Given the description of an element on the screen output the (x, y) to click on. 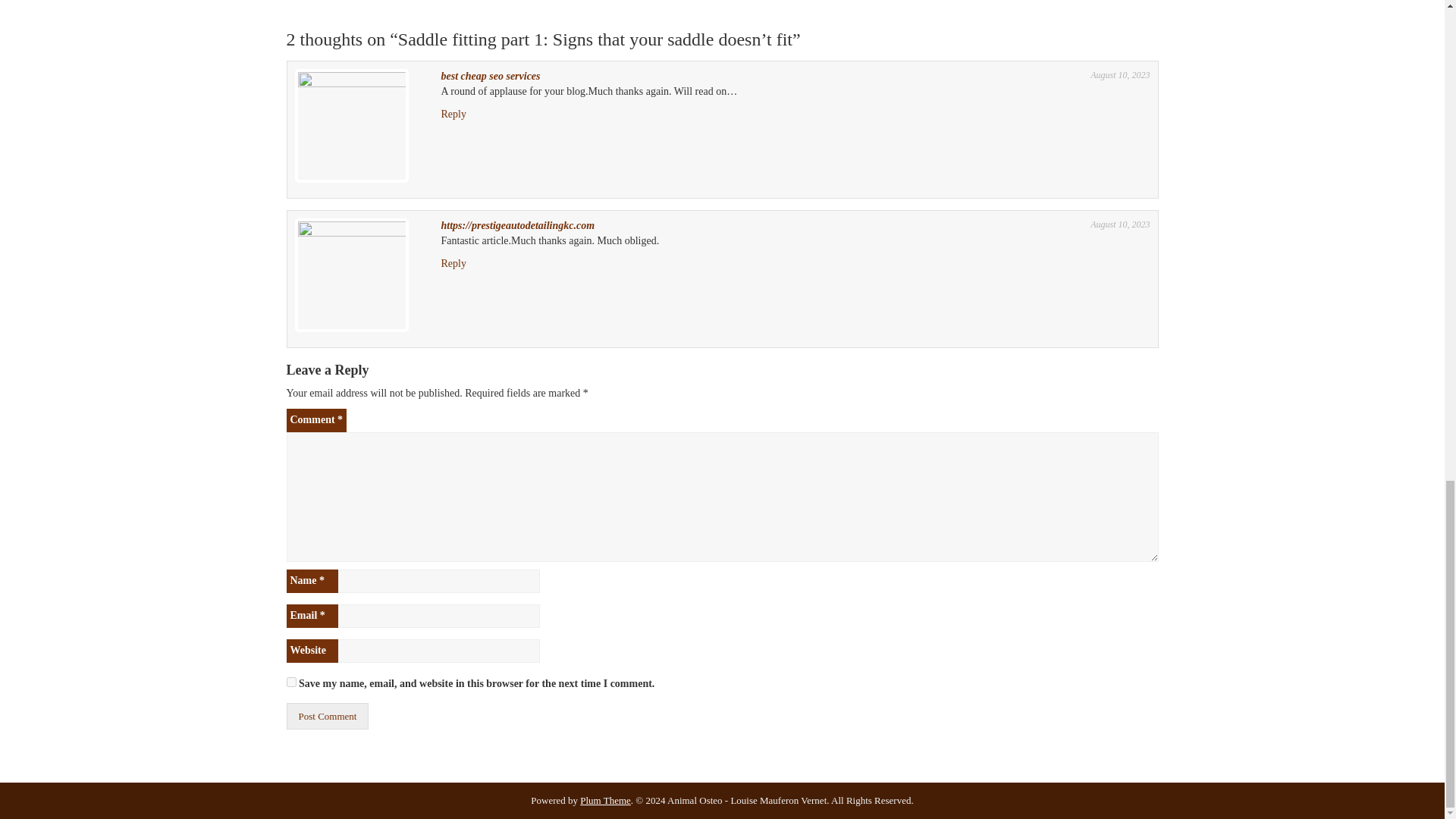
Plum Theme (604, 799)
best cheap seo services (490, 75)
Reply (453, 263)
Post Comment (327, 715)
yes (291, 682)
Reply (453, 113)
Post Comment (327, 715)
